Given the description of an element on the screen output the (x, y) to click on. 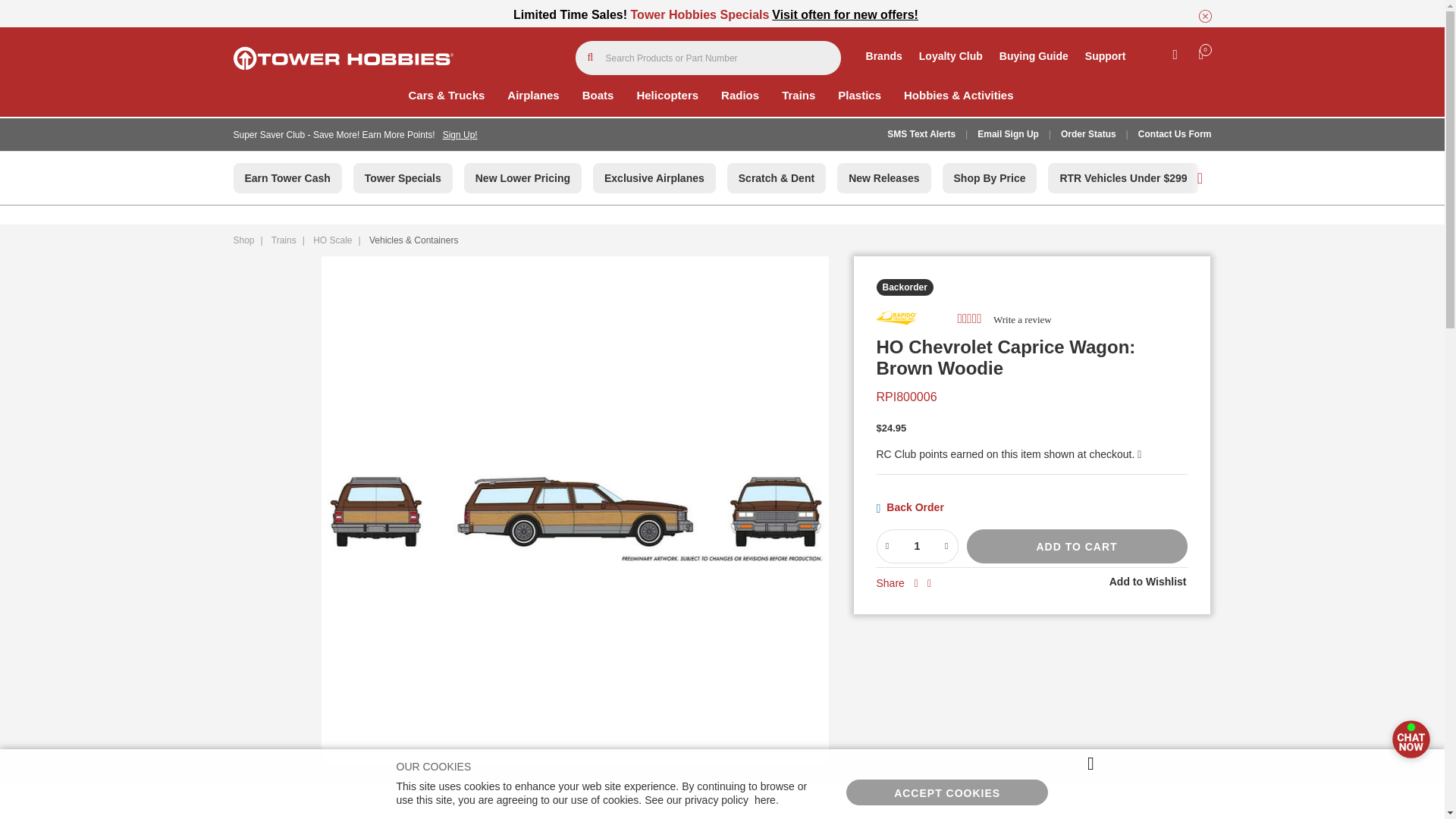
1 (916, 546)
Tower Hobbies Home (342, 58)
ICON-CLOSE (1204, 15)
